Given the description of an element on the screen output the (x, y) to click on. 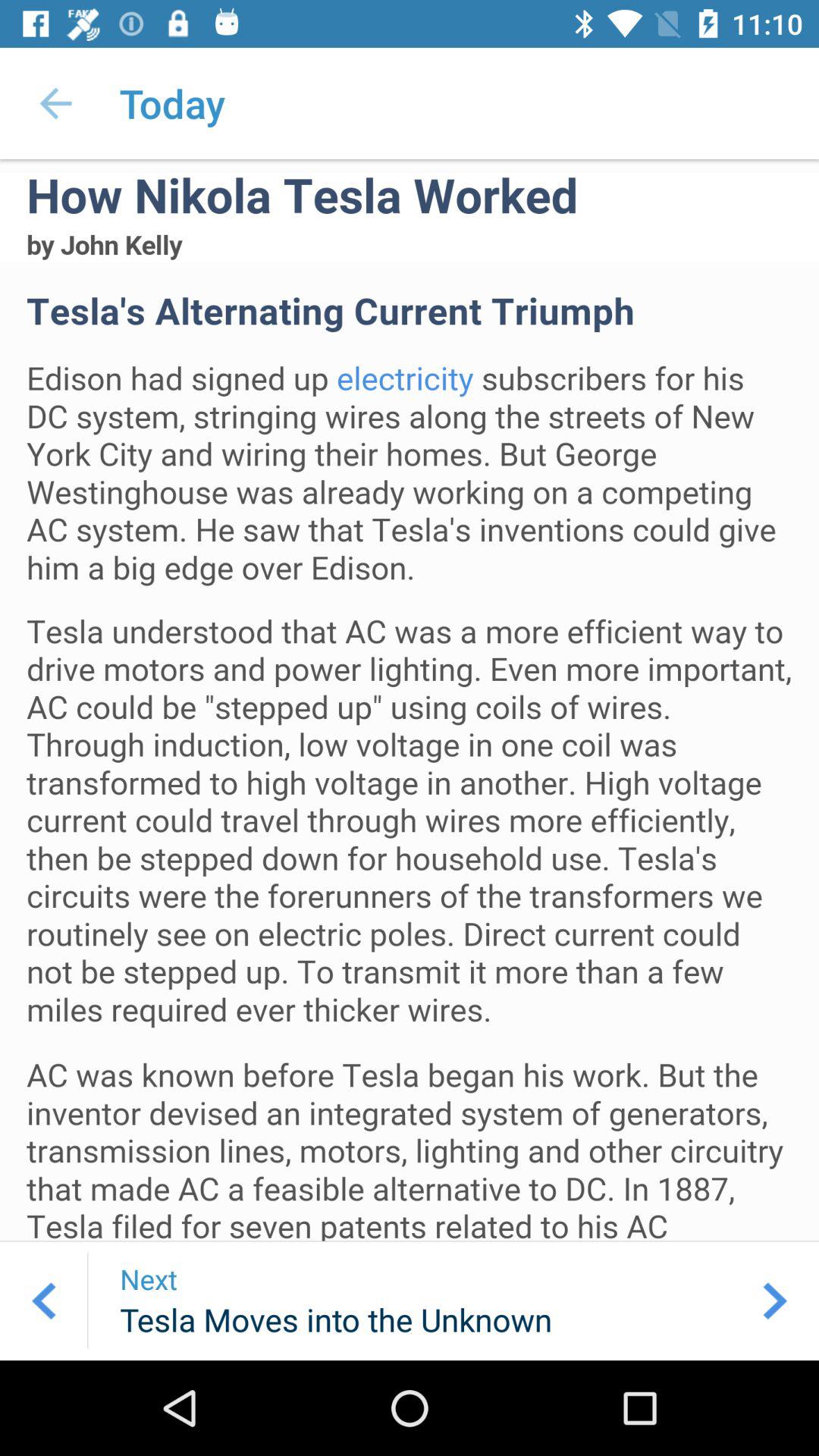
click to next option (775, 1300)
